Given the description of an element on the screen output the (x, y) to click on. 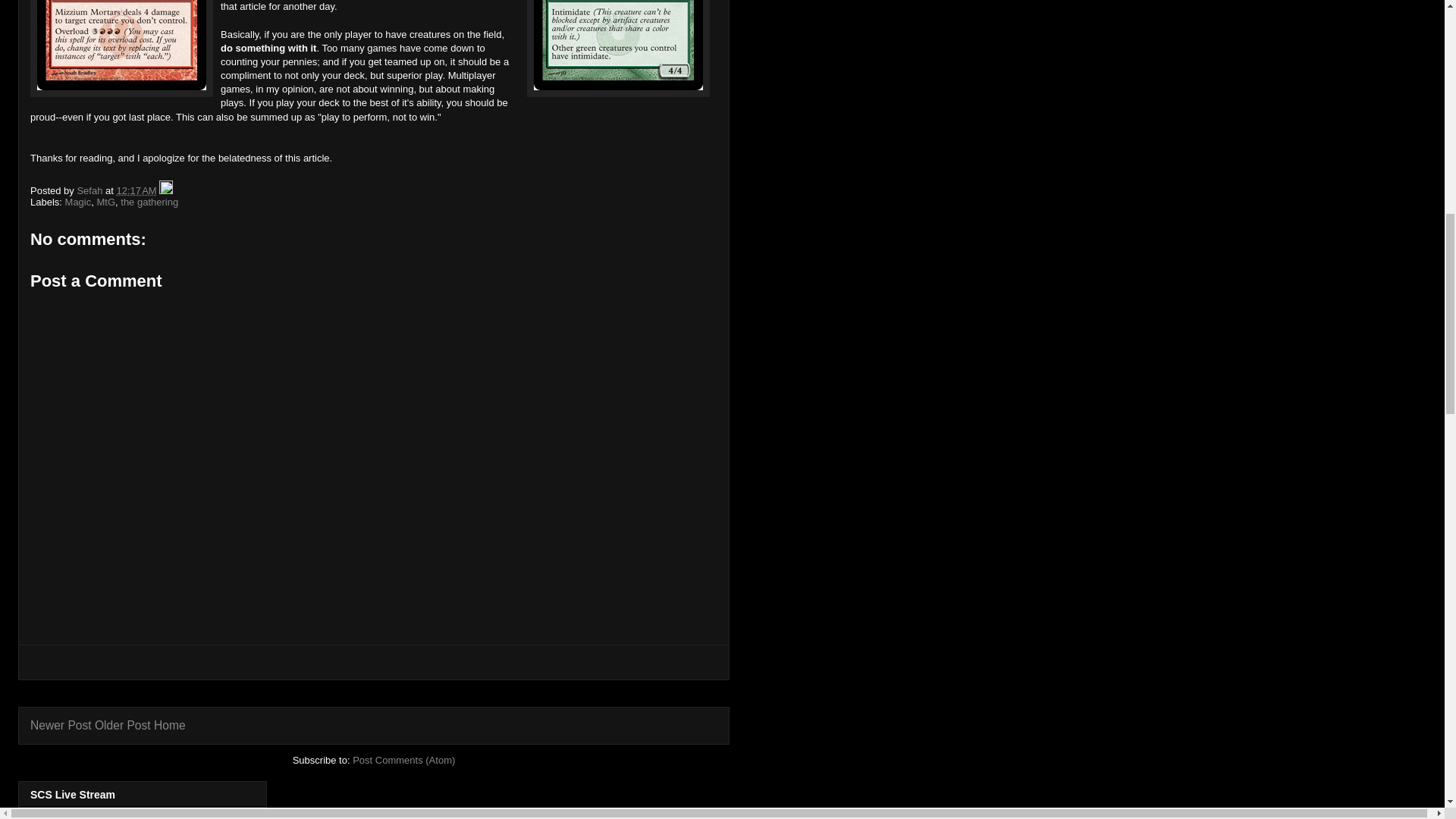
Newer Post (60, 725)
the gathering (148, 202)
Home (170, 725)
Older Post (122, 725)
MtG (105, 202)
Sefah (90, 190)
Newer Post (60, 725)
Older Post (122, 725)
Edit Post (165, 190)
Magic (78, 202)
author profile (90, 190)
permanent link (136, 190)
